Given the description of an element on the screen output the (x, y) to click on. 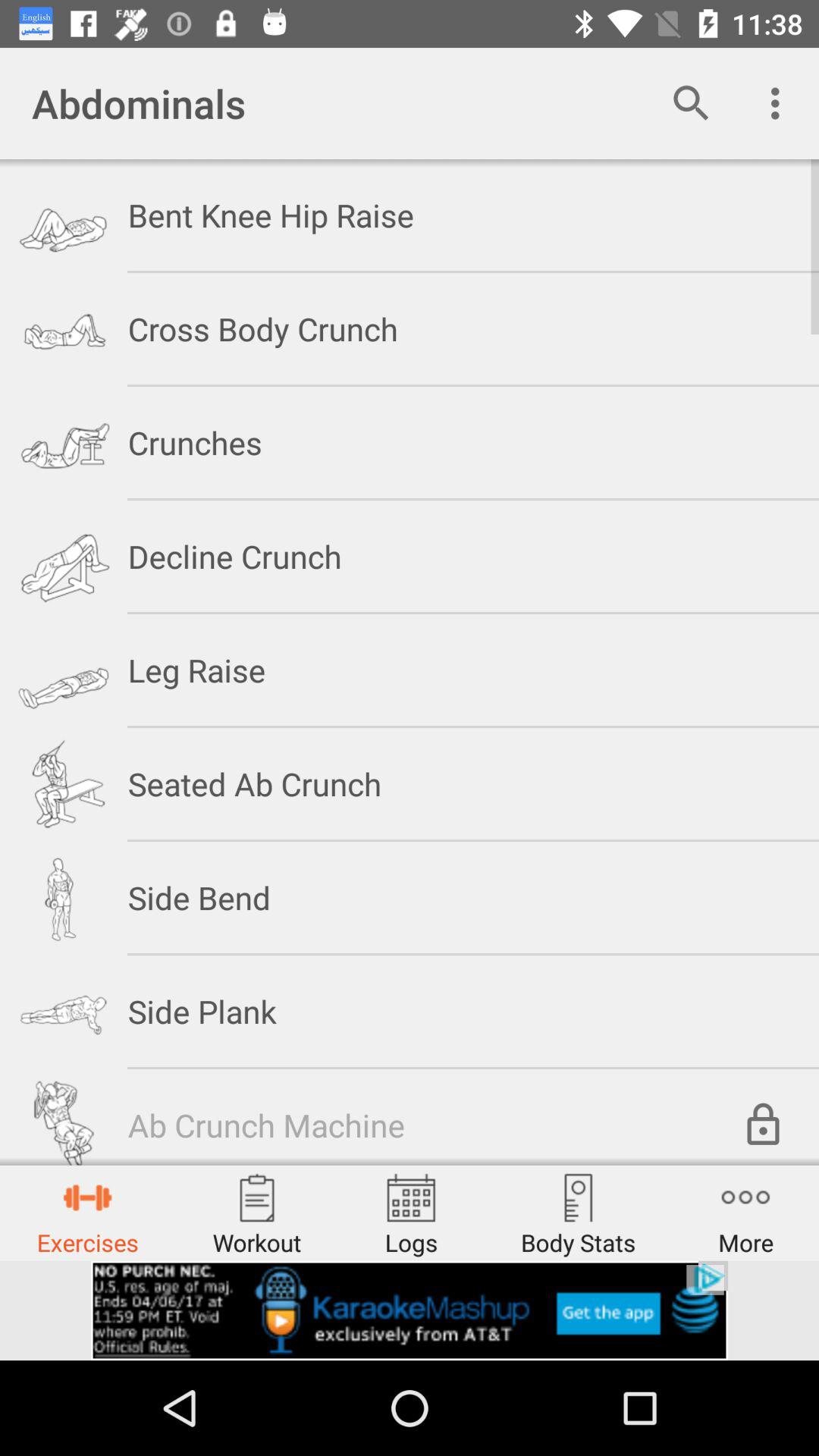
advertisement banner (409, 1310)
